Given the description of an element on the screen output the (x, y) to click on. 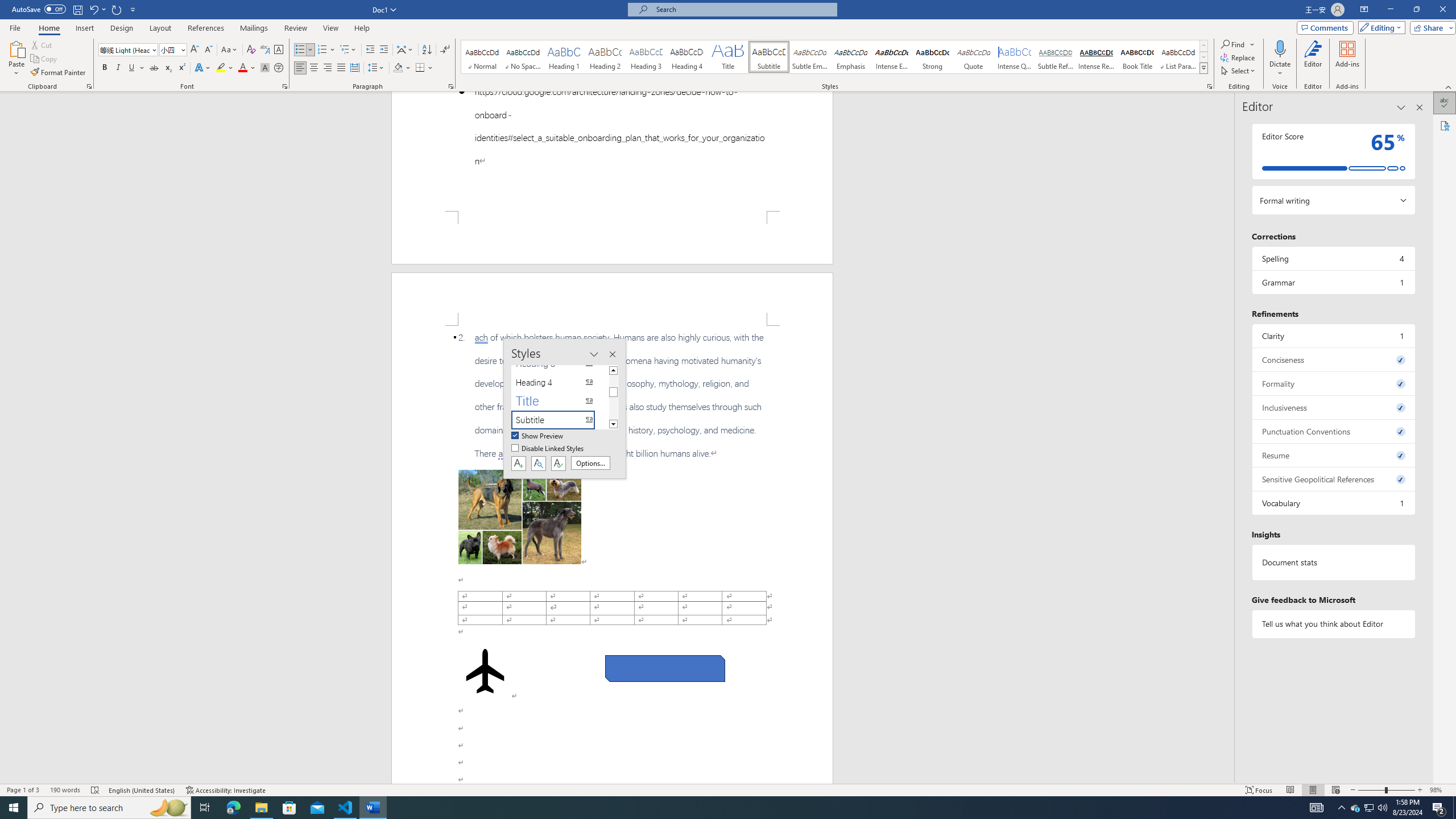
Intense Reference (1095, 56)
AutomationID: QuickStylesGallery (834, 56)
Clear Formatting (250, 49)
Document statistics (1333, 561)
Show Preview (537, 436)
Subtitle (768, 56)
